Given the description of an element on the screen output the (x, y) to click on. 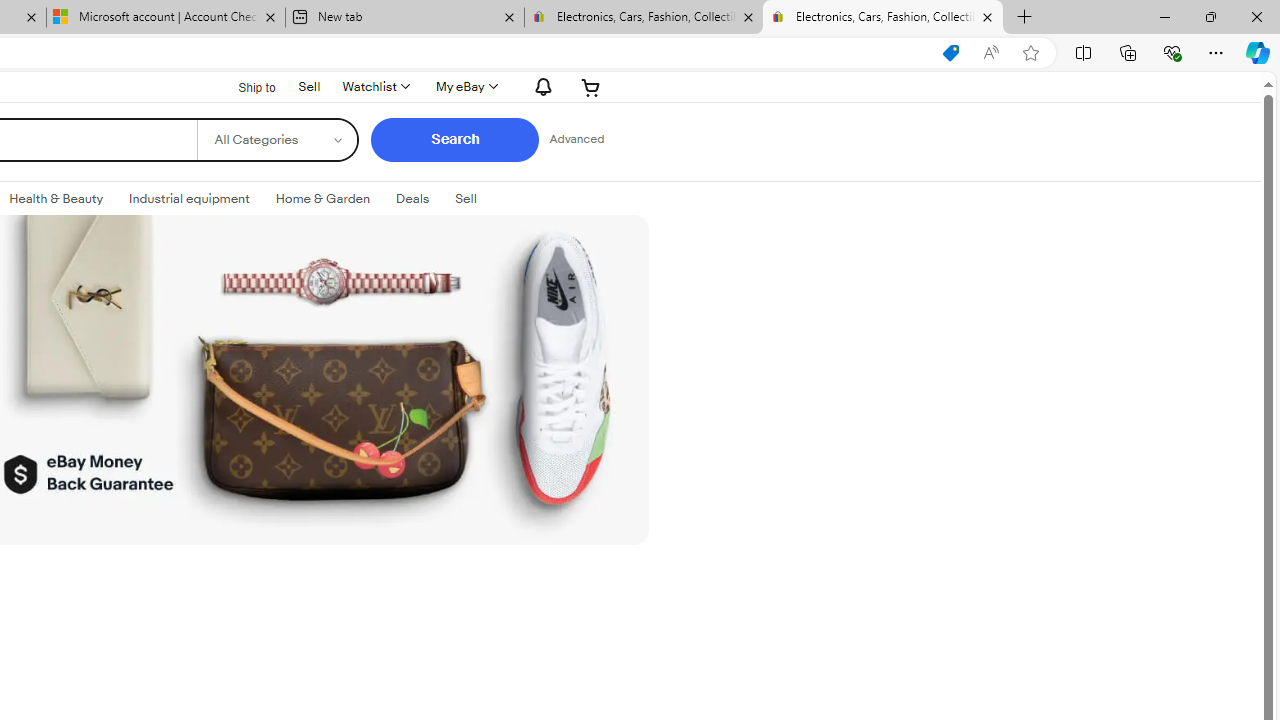
My eBayExpand My eBay (464, 86)
Deals (412, 198)
Health & Beauty (55, 198)
Select a category for search (277, 139)
Home & Garden (323, 198)
Industrial equipmentExpand: Industrial equipment (189, 199)
Industrial equipment (189, 198)
